Given the description of an element on the screen output the (x, y) to click on. 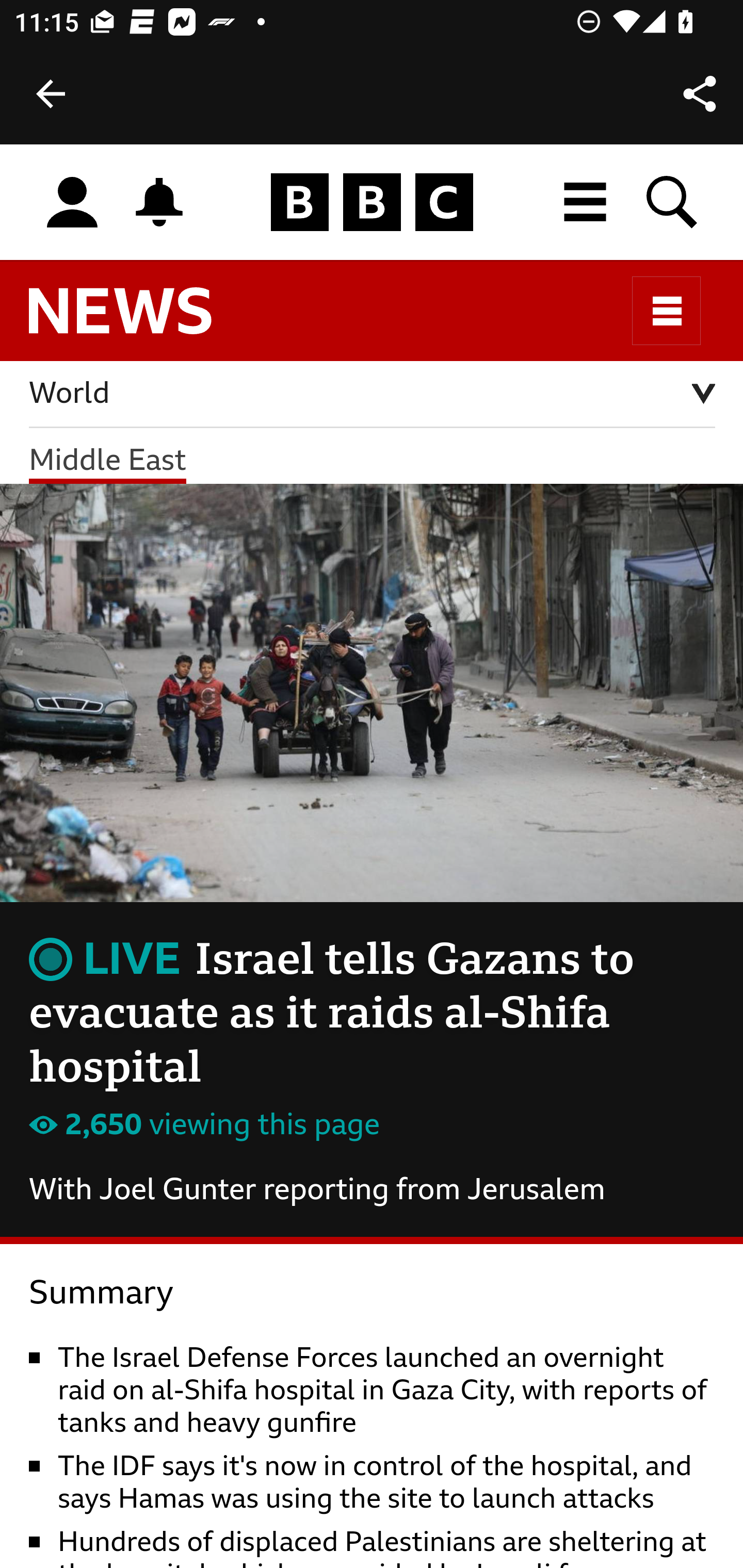
Back (50, 93)
Share (699, 93)
Notifications (159, 202)
All BBC destinations menu (585, 202)
Search BBC (672, 202)
Sign in (71, 203)
Homepage (371, 203)
Sections (667, 310)
BBC News (136, 319)
World (372, 394)
